Given the description of an element on the screen output the (x, y) to click on. 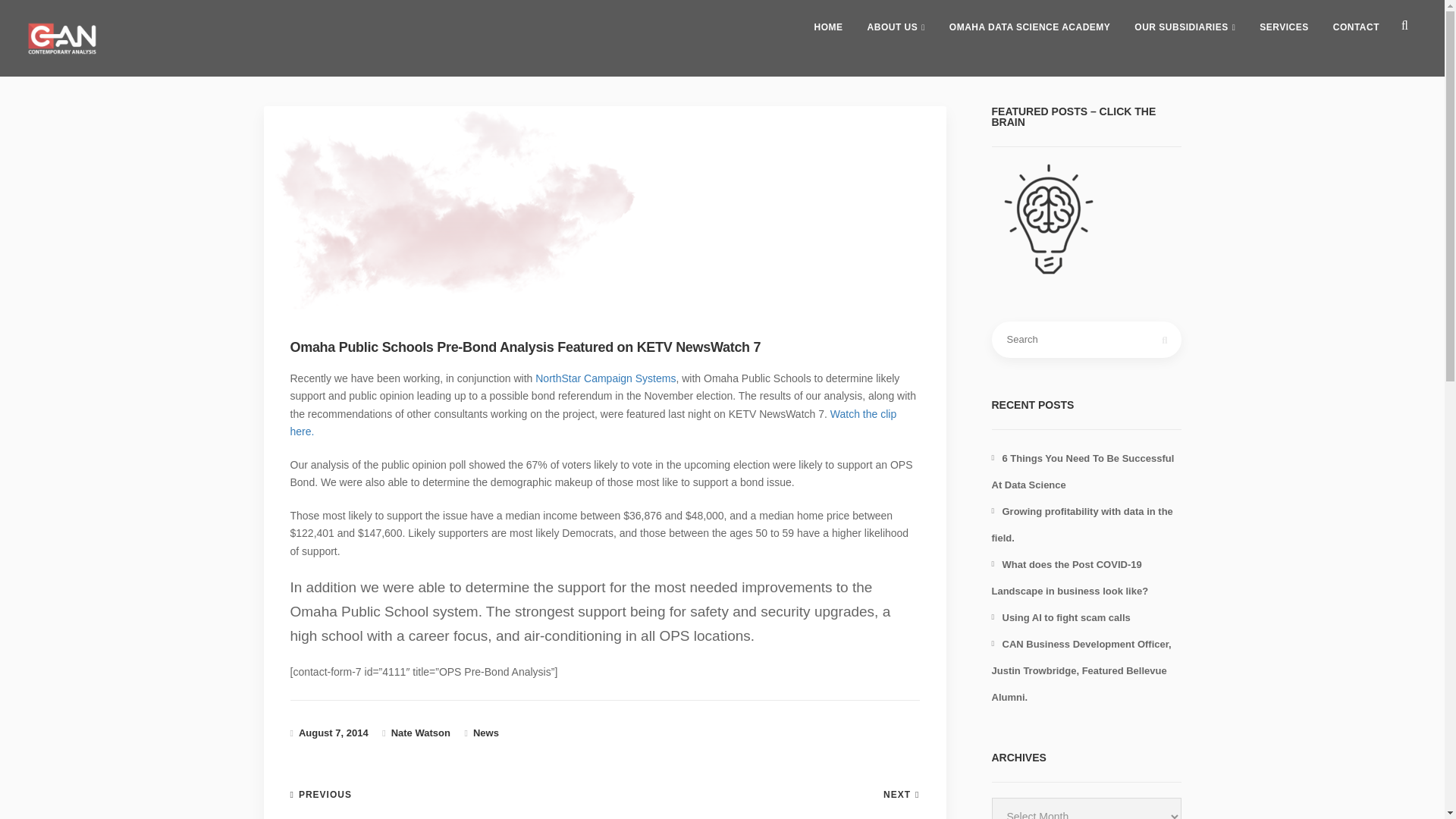
OMAHA DATA SCIENCE ACADEMY (1029, 26)
What does the Post COVID-19 Landscape in business look like? (1069, 577)
Using AI to fight scam calls (1061, 617)
PREVIOUS (319, 794)
6 Things You Need To Be Successful At Data Science (1082, 471)
HOME (829, 26)
NEXT (900, 794)
Growing profitability with data in the field. (1082, 524)
Our Subsidiaries (1184, 26)
NorthStar Campaign Systems (605, 378)
Home (829, 26)
Services (1283, 26)
SERVICES (1283, 26)
Omaha Data Science Academy (1029, 26)
